Given the description of an element on the screen output the (x, y) to click on. 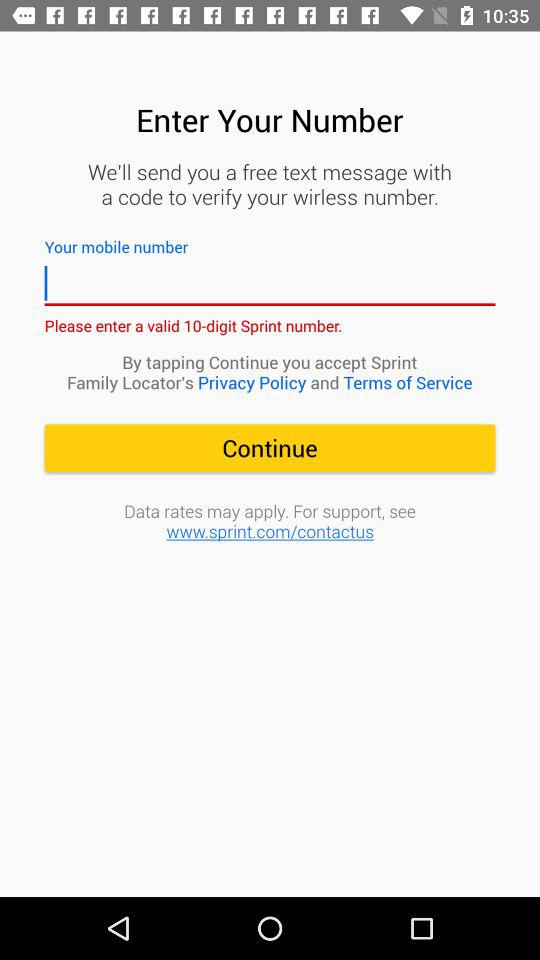
space to write your mobile phone number (269, 283)
